Given the description of an element on the screen output the (x, y) to click on. 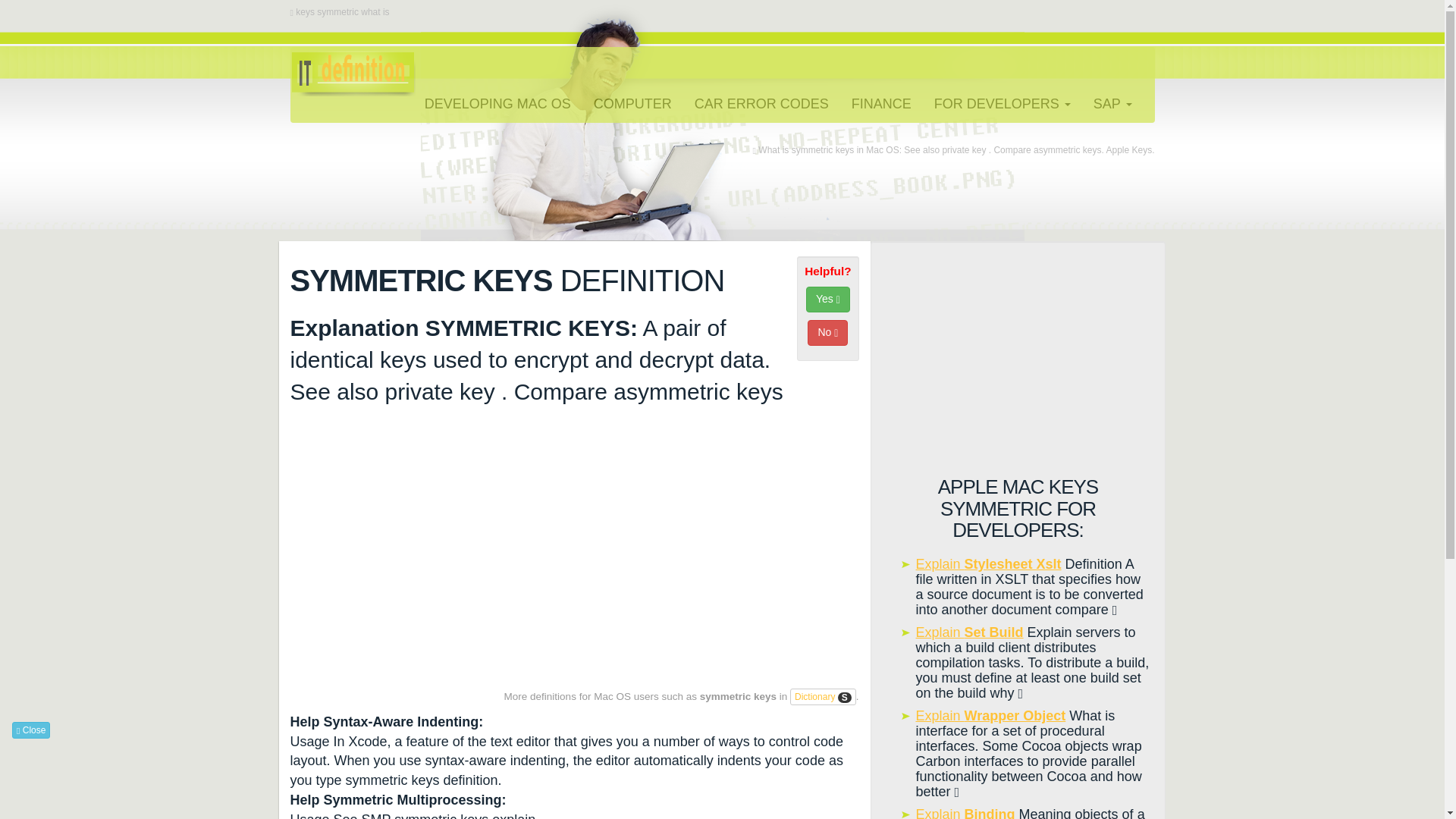
Yes (828, 299)
Computer term (632, 103)
SAP terms (1002, 103)
symmetric keys (823, 696)
KEYS SYMMETRIC (351, 65)
Close (30, 729)
FINANCE (881, 103)
Dictionary S (823, 696)
What is binding (964, 812)
Explain Set Build (969, 631)
